Given the description of an element on the screen output the (x, y) to click on. 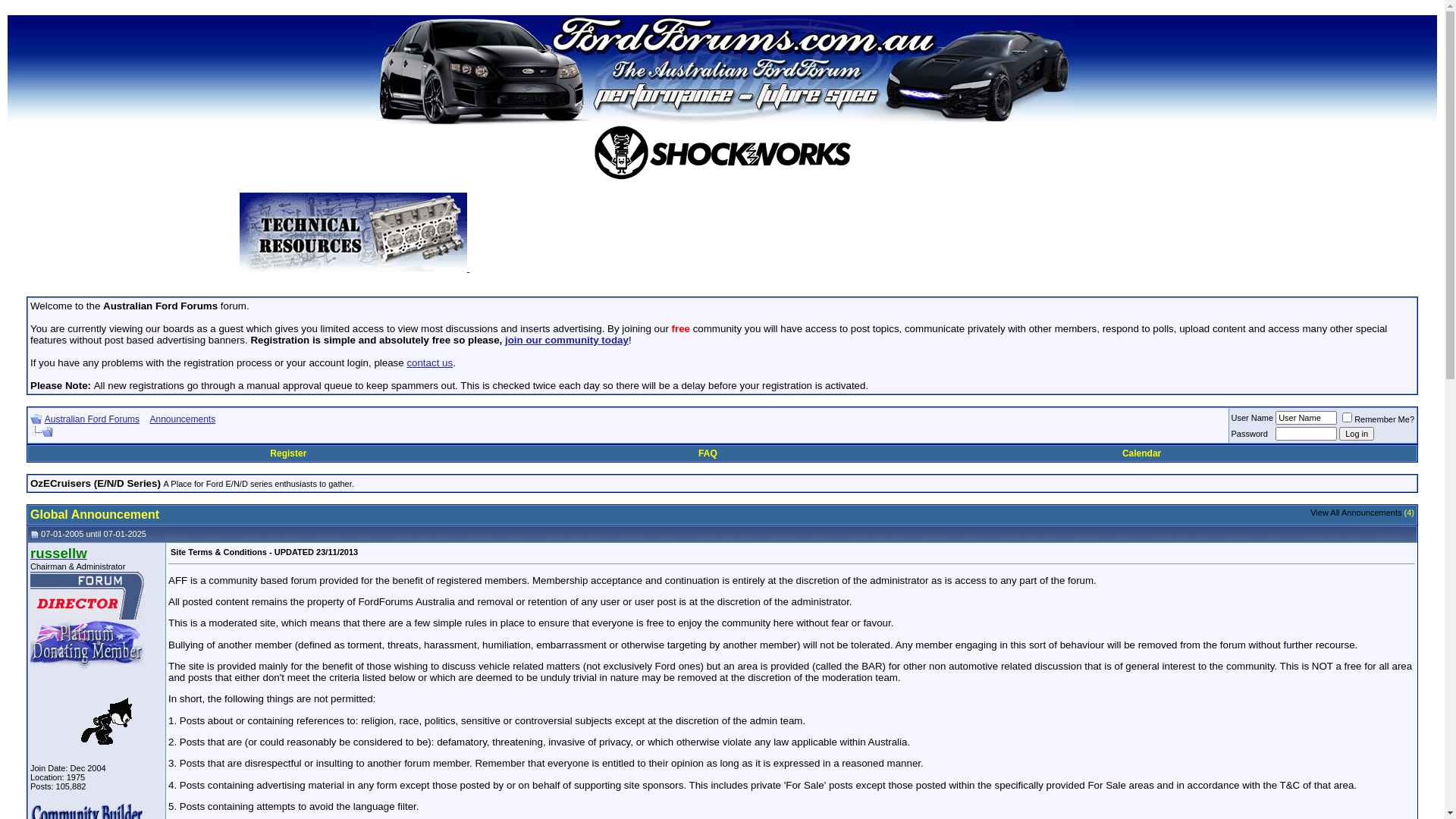
Advertisement Element type: hover (836, 237)
Register Element type: text (287, 453)
Announcements Element type: text (182, 419)
Shockworks Element type: hover (722, 152)
Australian Ford Forums Element type: text (91, 419)
russellw's Avatar Element type: hover (87, 716)
Log in Element type: text (1356, 433)
join our community today Element type: text (566, 339)
View All Announcements Element type: text (1355, 512)
Go Back Element type: hover (35, 418)
contact us Element type: text (429, 362)
Donating Member3 Element type: hover (87, 644)
Calendar Element type: text (1141, 453)
Reload this Page Element type: hover (41, 431)
russellw Element type: text (58, 553)
FAQ Element type: text (707, 453)
